Given the description of an element on the screen output the (x, y) to click on. 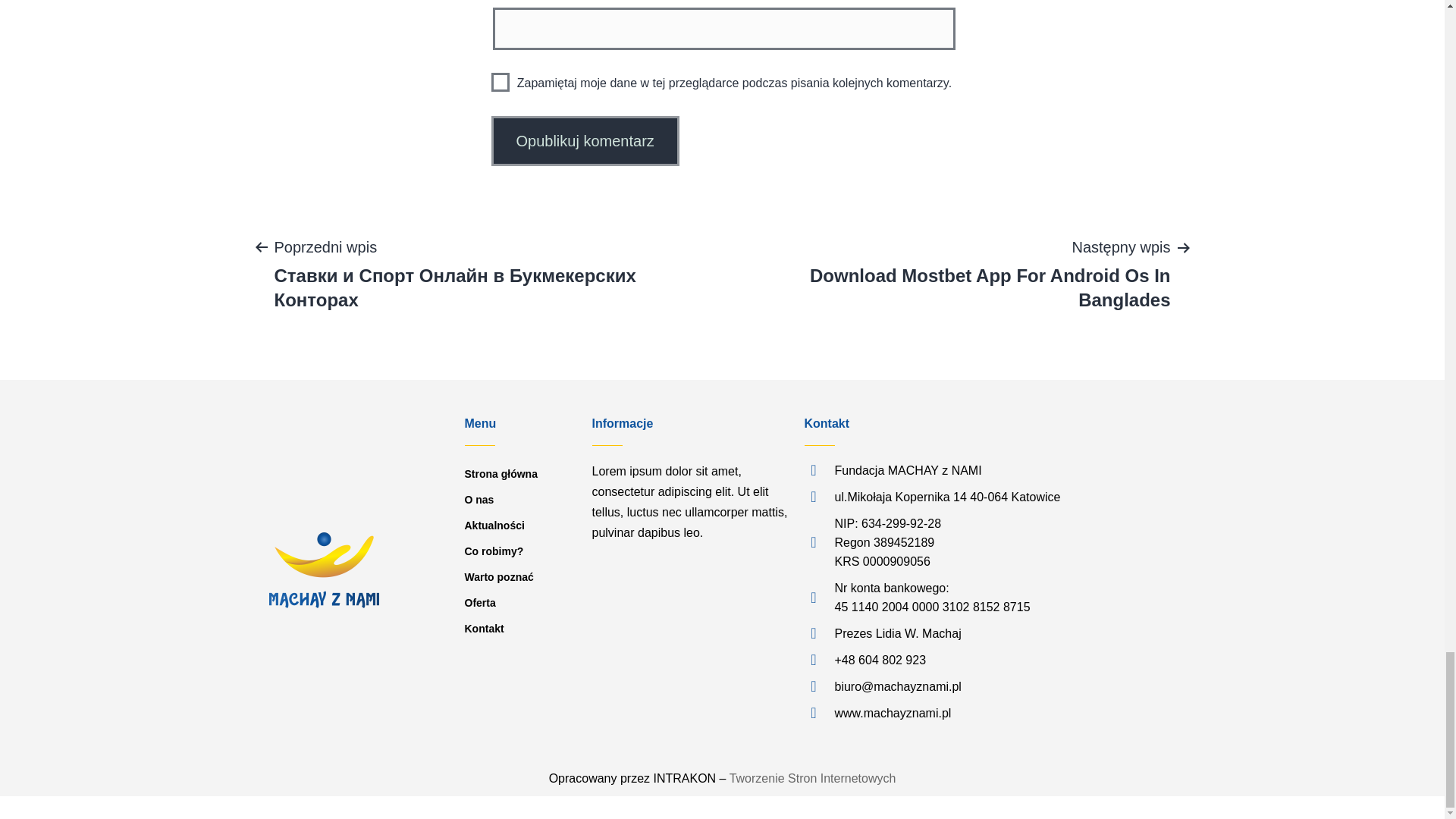
Kontakt (520, 628)
Opublikuj komentarz (585, 141)
Opublikuj komentarz (585, 141)
Oferta (520, 602)
www.machayznami.pl (1023, 712)
yes (500, 81)
Tworzenie Stron Internetowych (811, 778)
O nas (520, 499)
Co robimy? (520, 551)
